Given the description of an element on the screen output the (x, y) to click on. 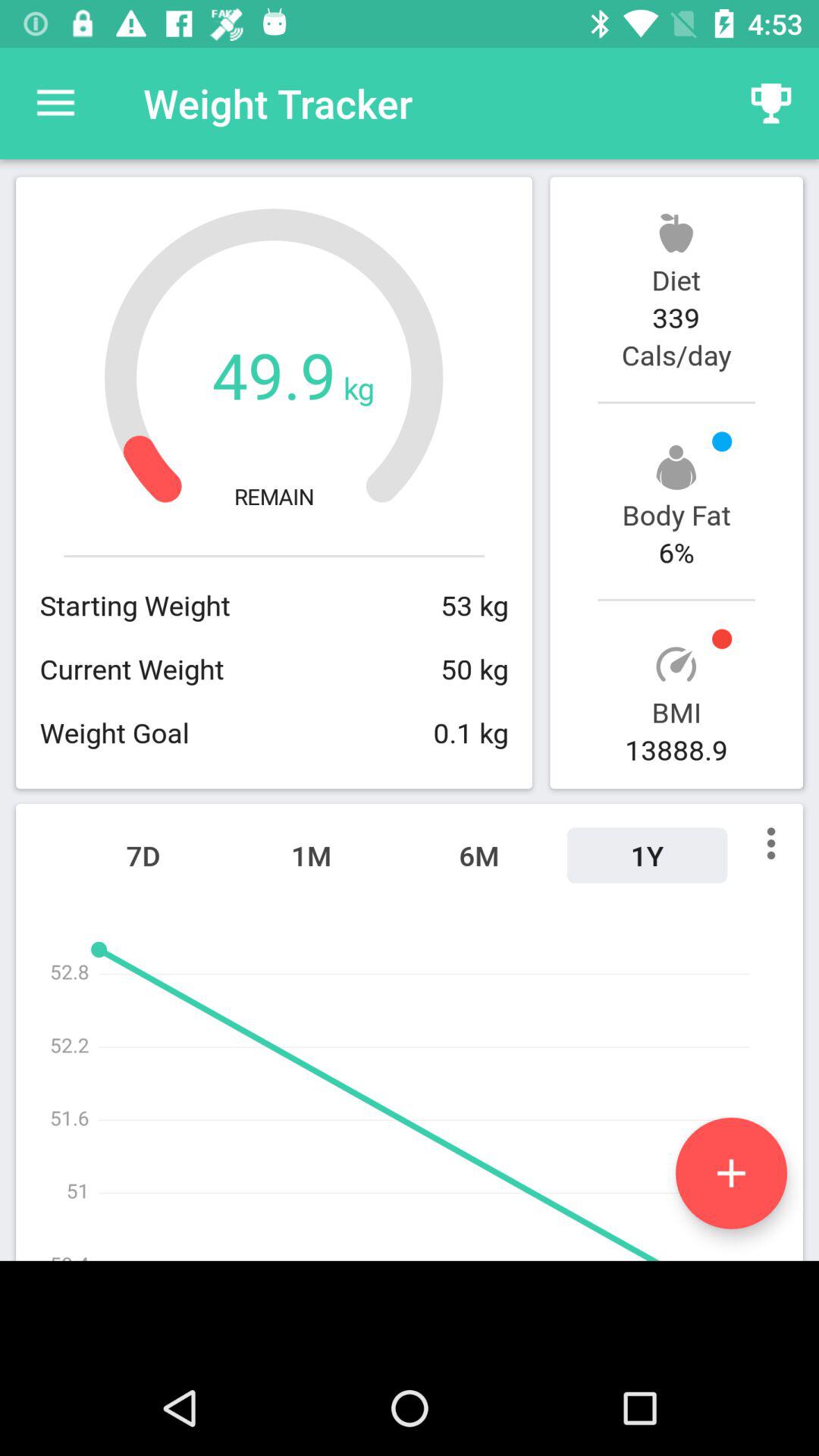
scroll to the 7d icon (143, 855)
